Given the description of an element on the screen output the (x, y) to click on. 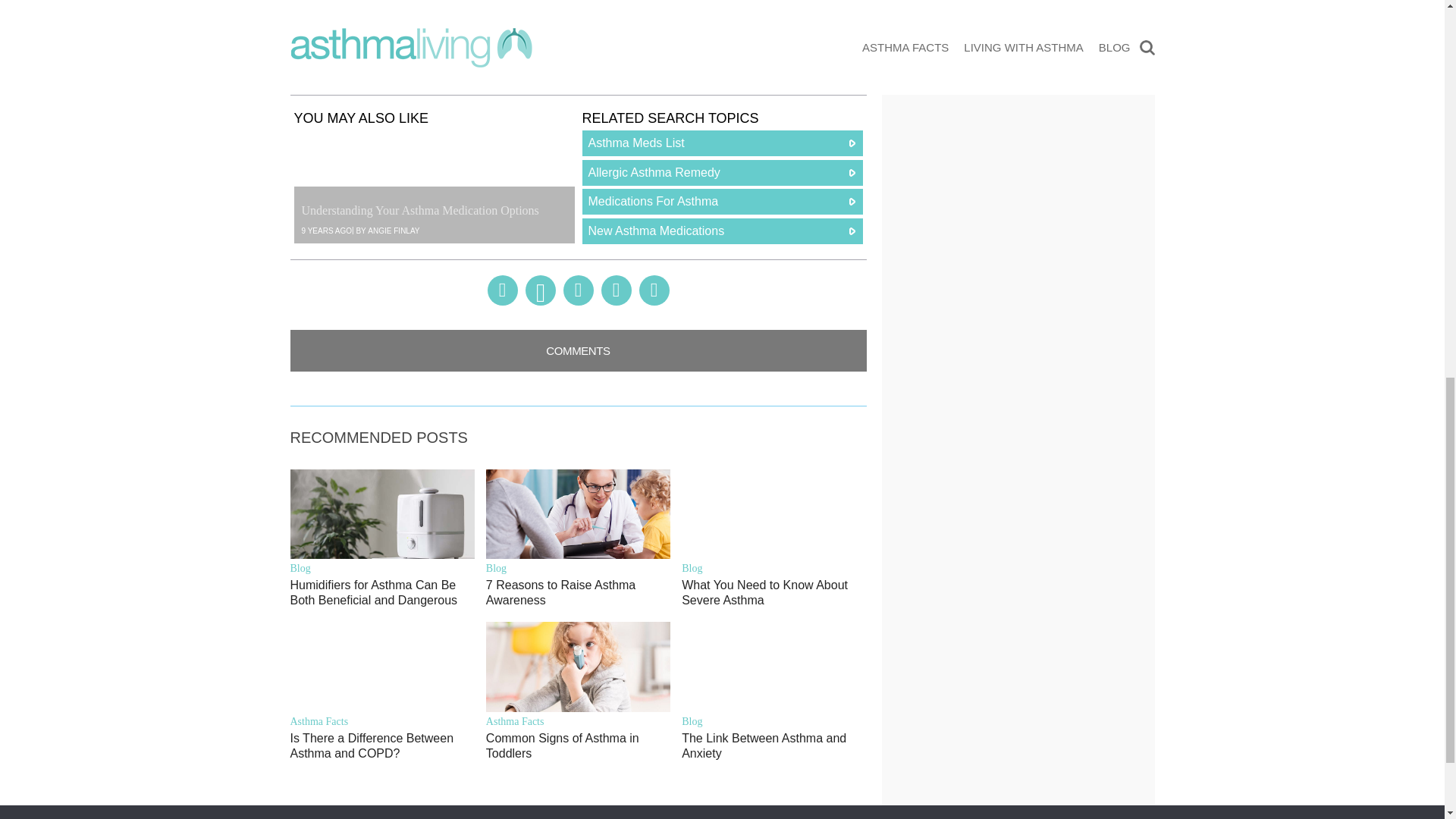
Humidifiers for Asthma Can Be Both Beneficial and Dangerous (381, 593)
Facebook (501, 290)
COMMENTS (577, 350)
What You Need to Know About Severe Asthma (773, 593)
Allergic Asthma Remedy (722, 172)
Blog (773, 568)
ANGIE FINLAY (393, 231)
Messenger (577, 290)
Understanding Your Asthma Medication Options (434, 186)
NEXT (725, 60)
